Given the description of an element on the screen output the (x, y) to click on. 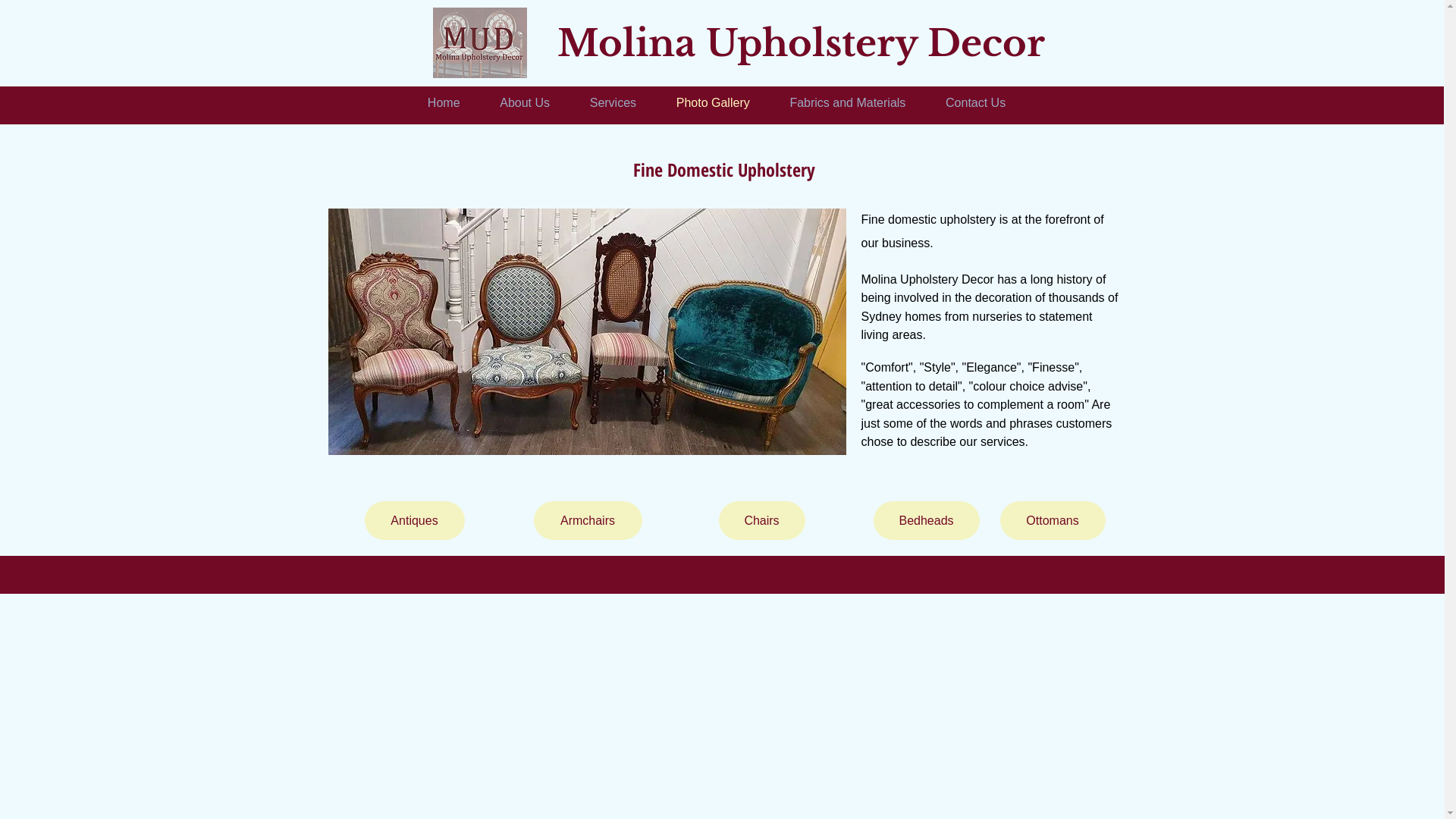
Fabrics and Materials Element type: text (847, 102)
Bedheads Element type: text (926, 520)
Photo Gallery Element type: text (712, 102)
About Us Element type: text (525, 102)
Armchairs Element type: text (587, 520)
Antiques Element type: text (414, 520)
Services Element type: text (612, 102)
Home Element type: text (443, 102)
Ottomans Element type: text (1051, 520)
Contact Us Element type: text (975, 102)
Chairs Element type: text (761, 520)
